Given the description of an element on the screen output the (x, y) to click on. 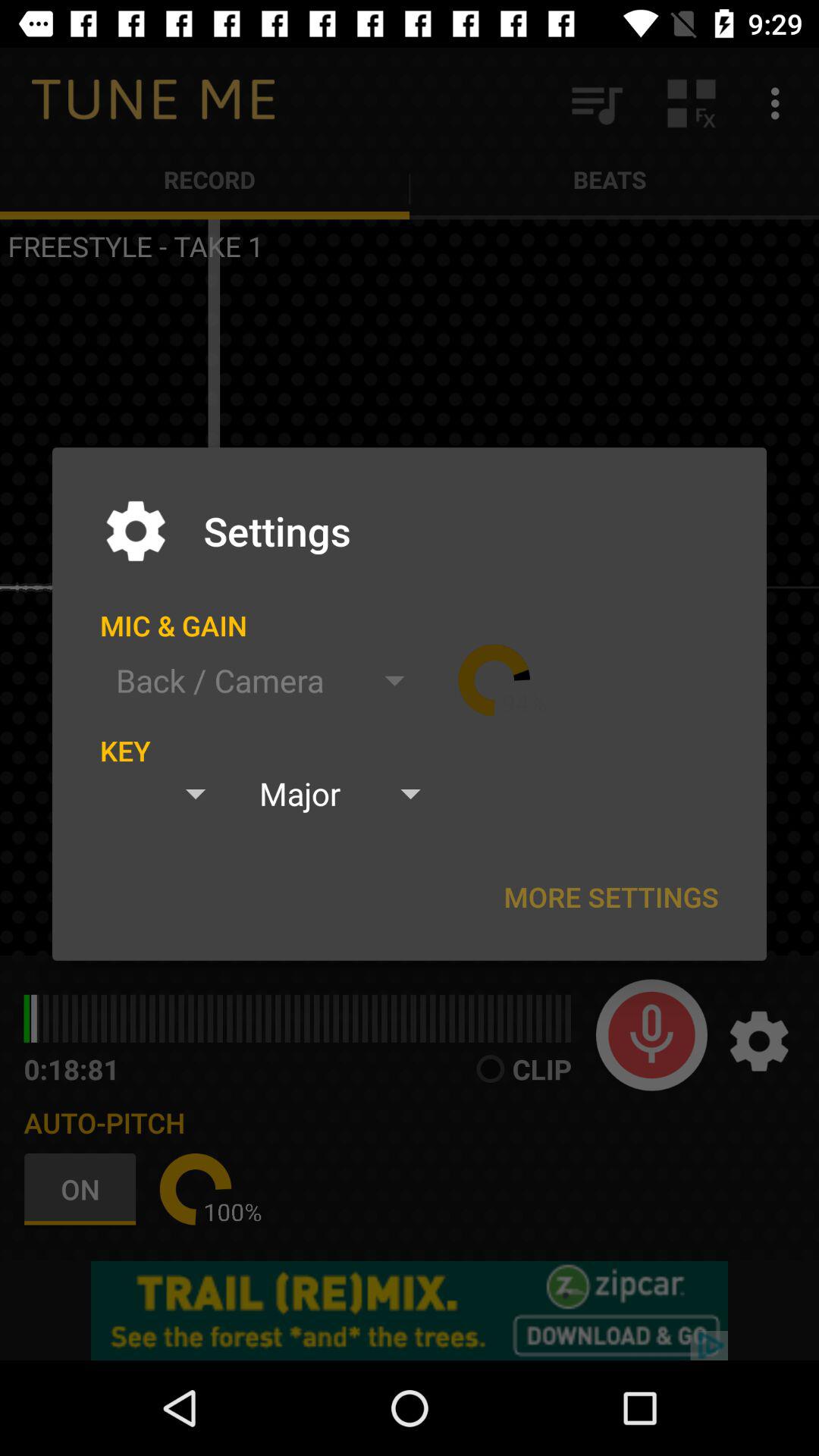
turn on item below the on icon (409, 1310)
